Given the description of an element on the screen output the (x, y) to click on. 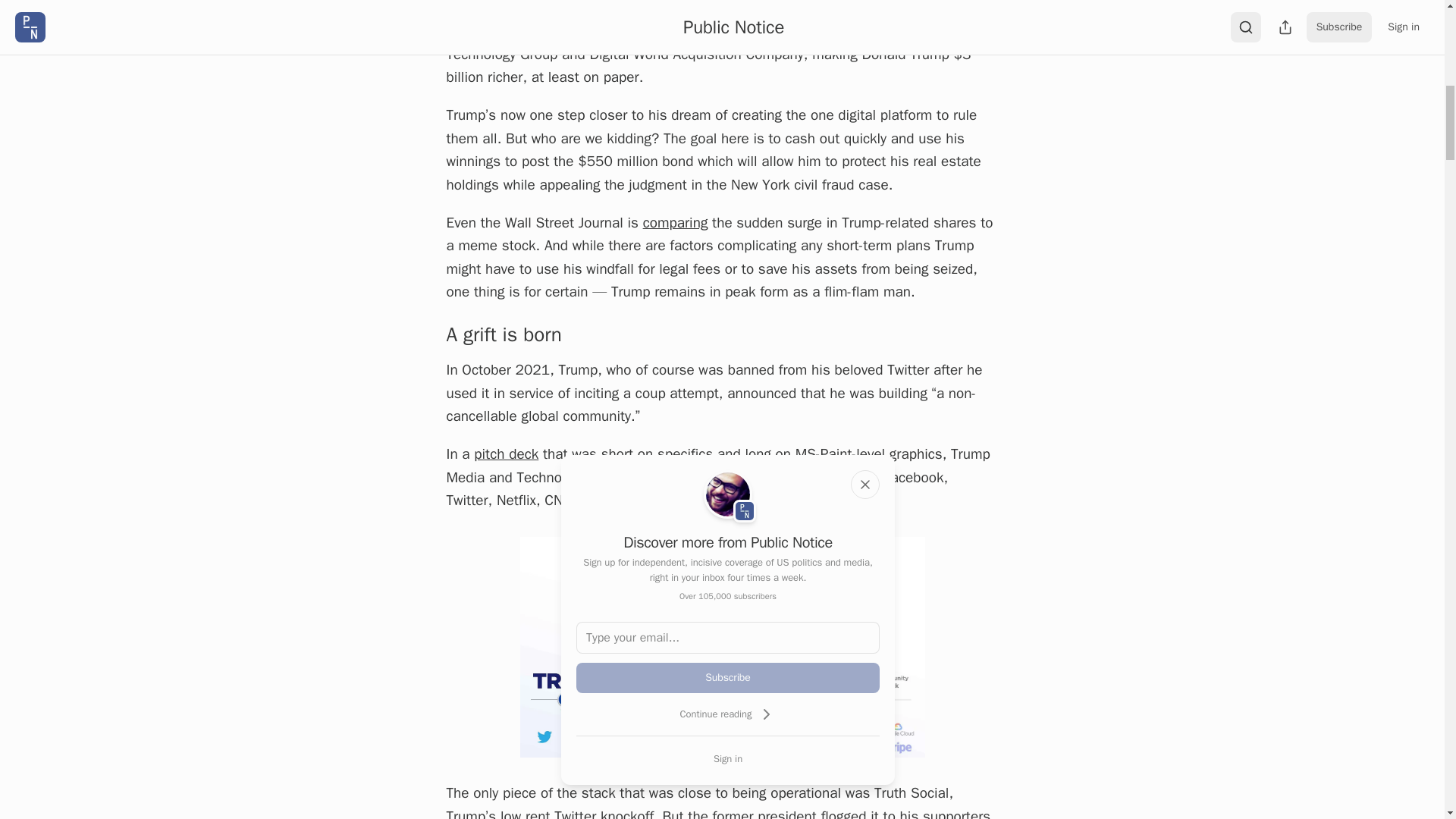
voted to approve (650, 31)
comparing (675, 222)
flogged (843, 813)
Sign in (727, 758)
pitch deck (506, 454)
Subscribe (727, 677)
